Given the description of an element on the screen output the (x, y) to click on. 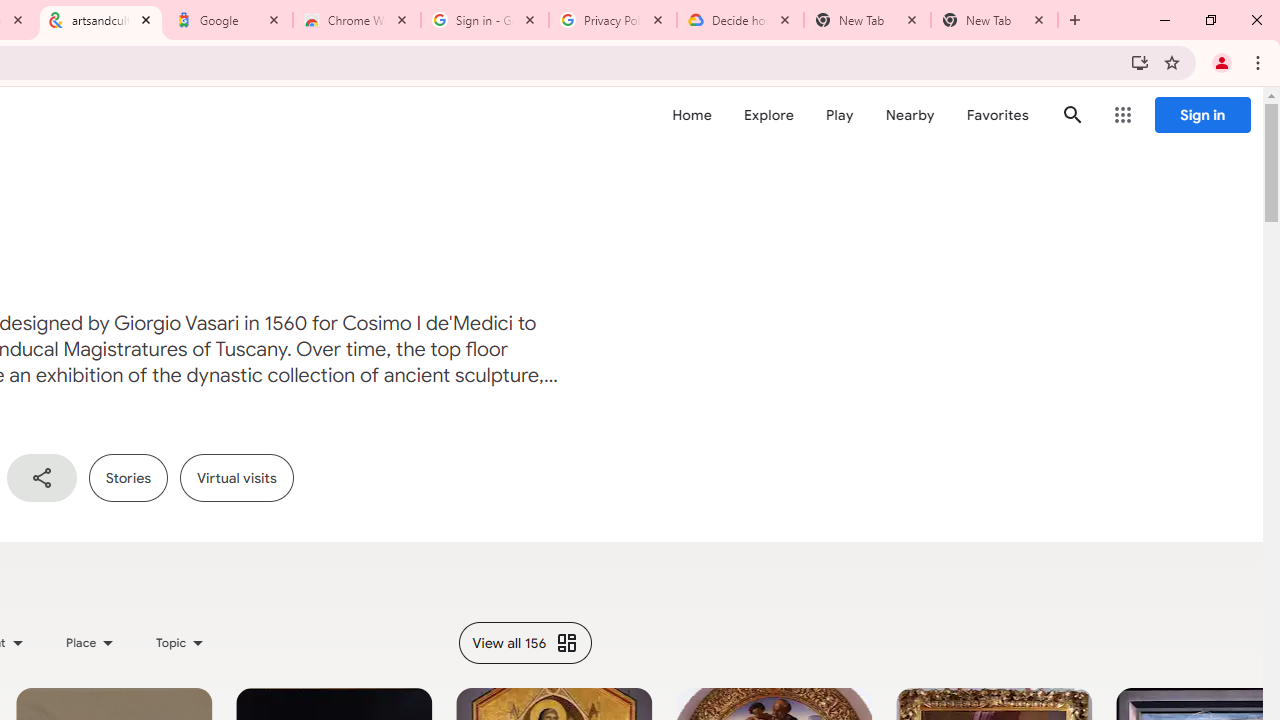
Favorites (996, 115)
View all 156 (525, 642)
Topic (180, 642)
Place (90, 642)
Home (691, 115)
Play (840, 115)
Nearby (910, 115)
